Given the description of an element on the screen output the (x, y) to click on. 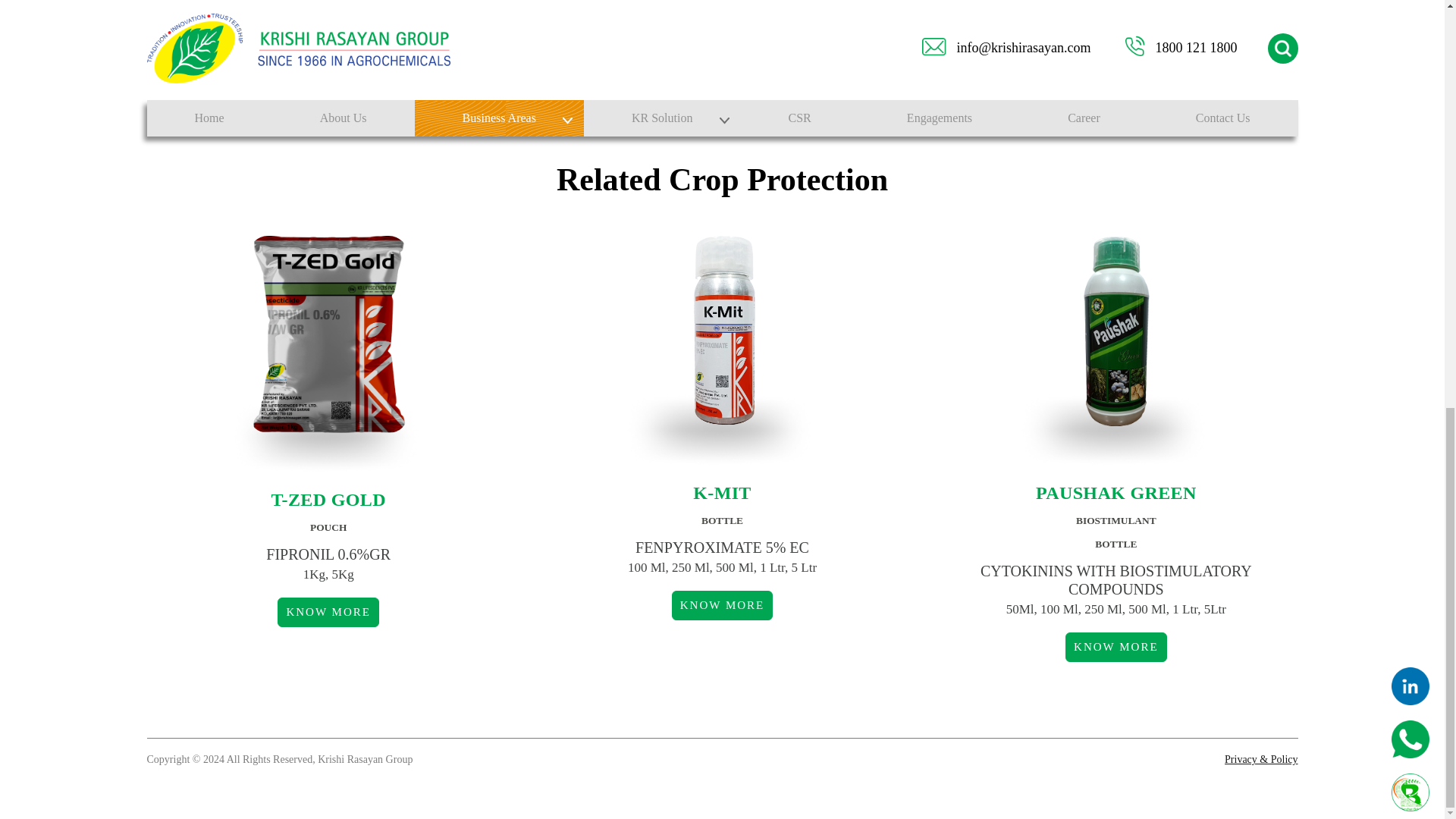
KNOW MORE (1115, 646)
K-MIT (722, 493)
KNOW MORE (722, 604)
T-ZED GOLD (329, 499)
KNOW MORE (328, 612)
GO BACK (721, 78)
PAUSHAK GREEN (1115, 493)
